Given the description of an element on the screen output the (x, y) to click on. 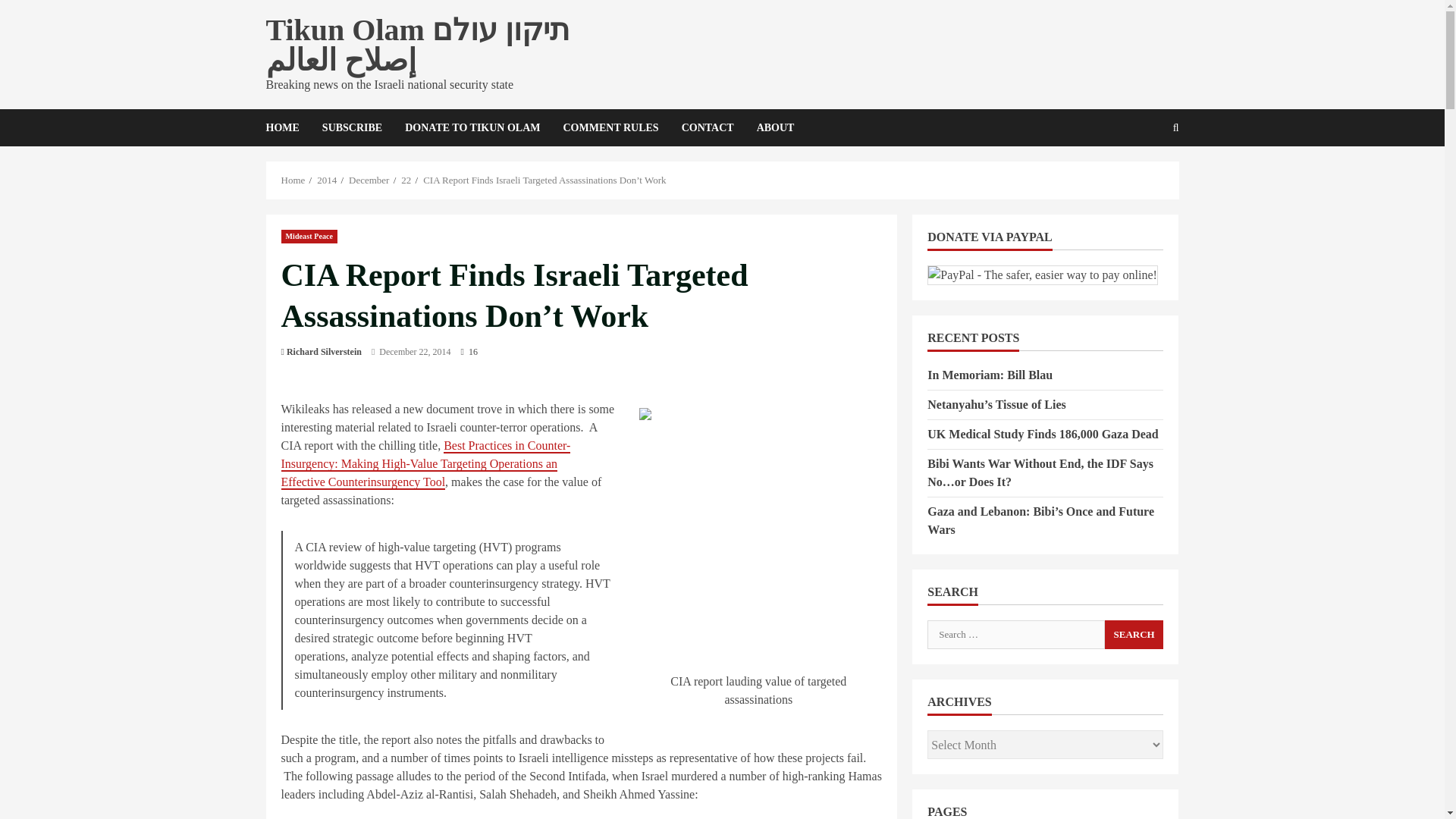
PayPal - The safer, easier way to pay online! (1042, 275)
HOME (287, 127)
CONTACT (707, 127)
2014 (326, 179)
ABOUT (769, 127)
Search (1139, 179)
Search (1134, 634)
Richard Silverstein (323, 351)
SUBSCRIBE (352, 127)
